Given the description of an element on the screen output the (x, y) to click on. 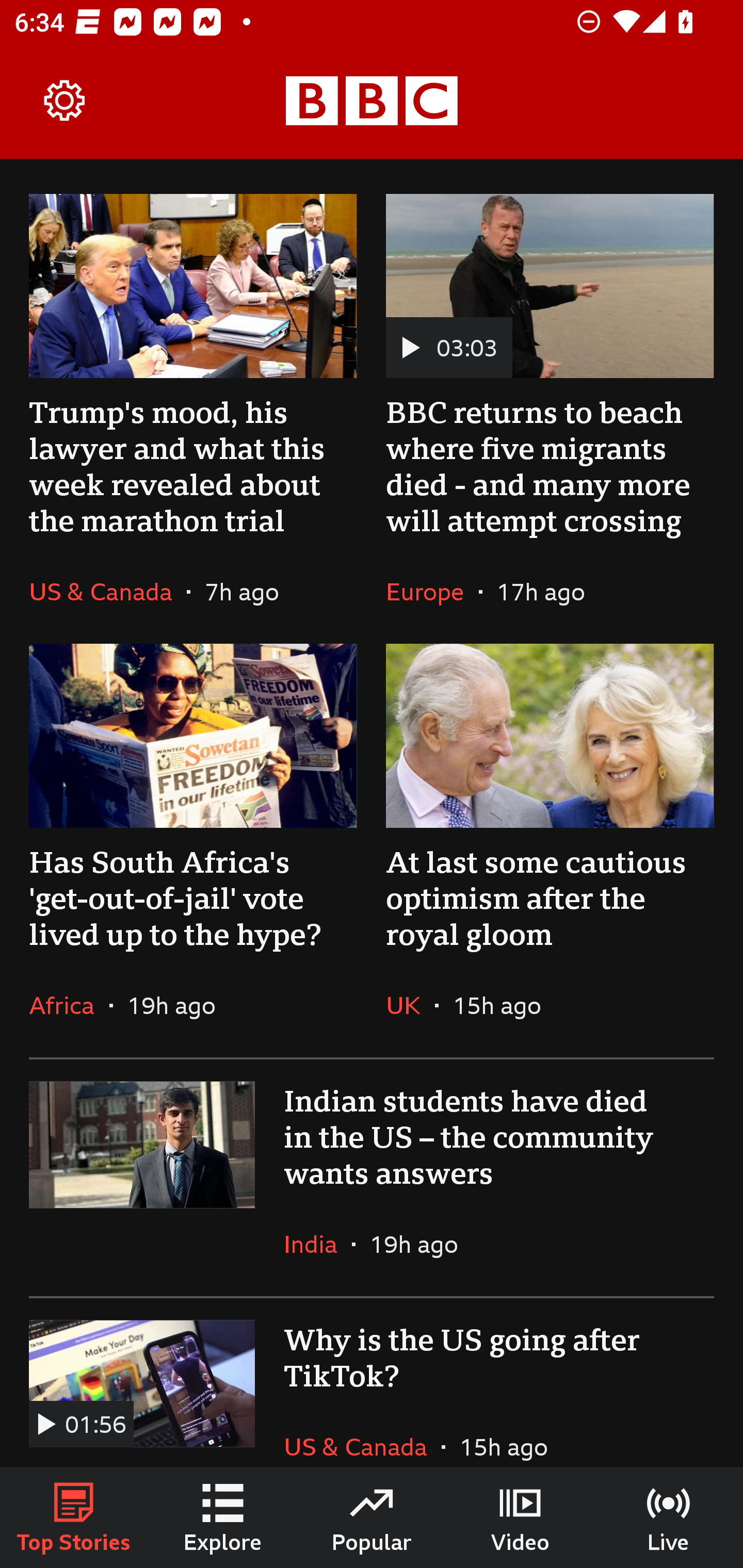
Settings (64, 100)
US & Canada In the section US & Canada (107, 591)
Europe In the section Europe (431, 591)
Africa In the section Africa (68, 1004)
UK In the section UK (409, 1004)
India In the section India (317, 1243)
US & Canada In the section US & Canada (362, 1430)
Explore (222, 1517)
Popular (371, 1517)
Video (519, 1517)
Live (668, 1517)
